Given the description of an element on the screen output the (x, y) to click on. 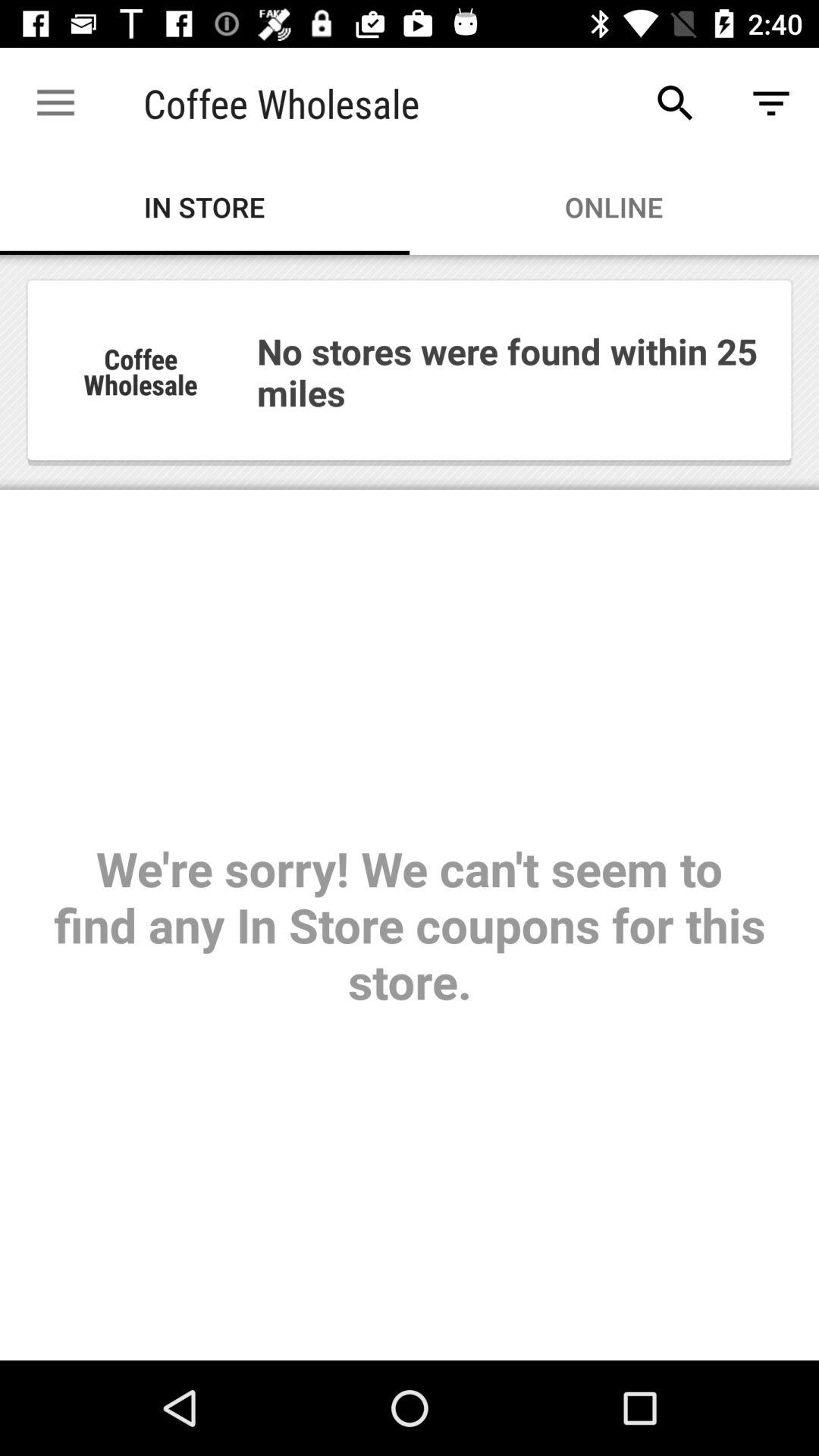
select the app next to the coffee wholesale app (675, 103)
